Given the description of an element on the screen output the (x, y) to click on. 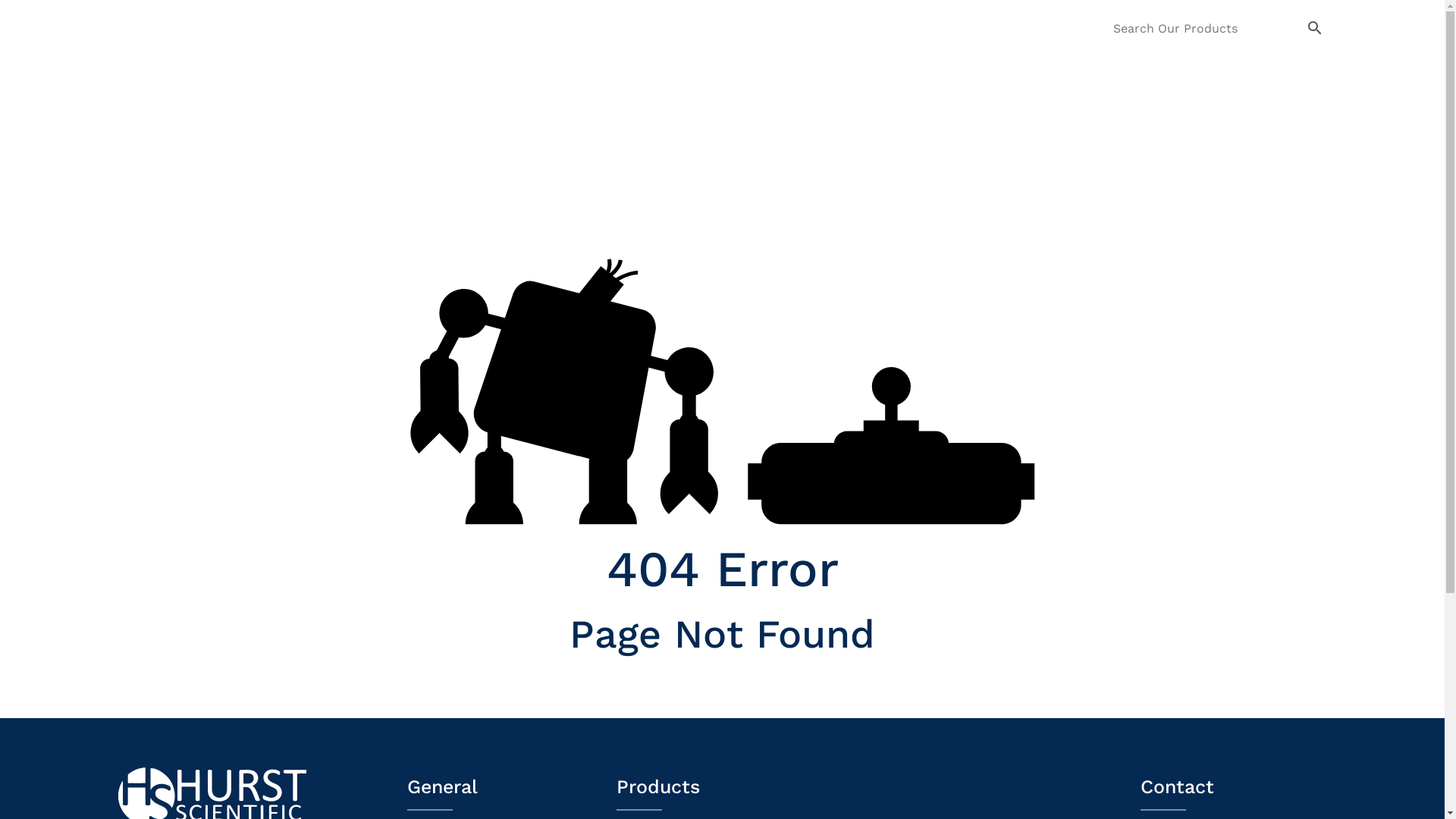
Promotions Element type: text (863, 64)
Pay Online Element type: text (1056, 64)
Catalogues Element type: text (961, 64)
Home Element type: text (697, 64)
Contact us Element type: text (1150, 64)
logo-psejulj438pback4jpwtwd2g8vz8h7vmhz8pvugpv2 Element type: hover (199, 46)
$0.00 Element type: text (1250, 63)
Products Element type: text (772, 64)
